Given the description of an element on the screen output the (x, y) to click on. 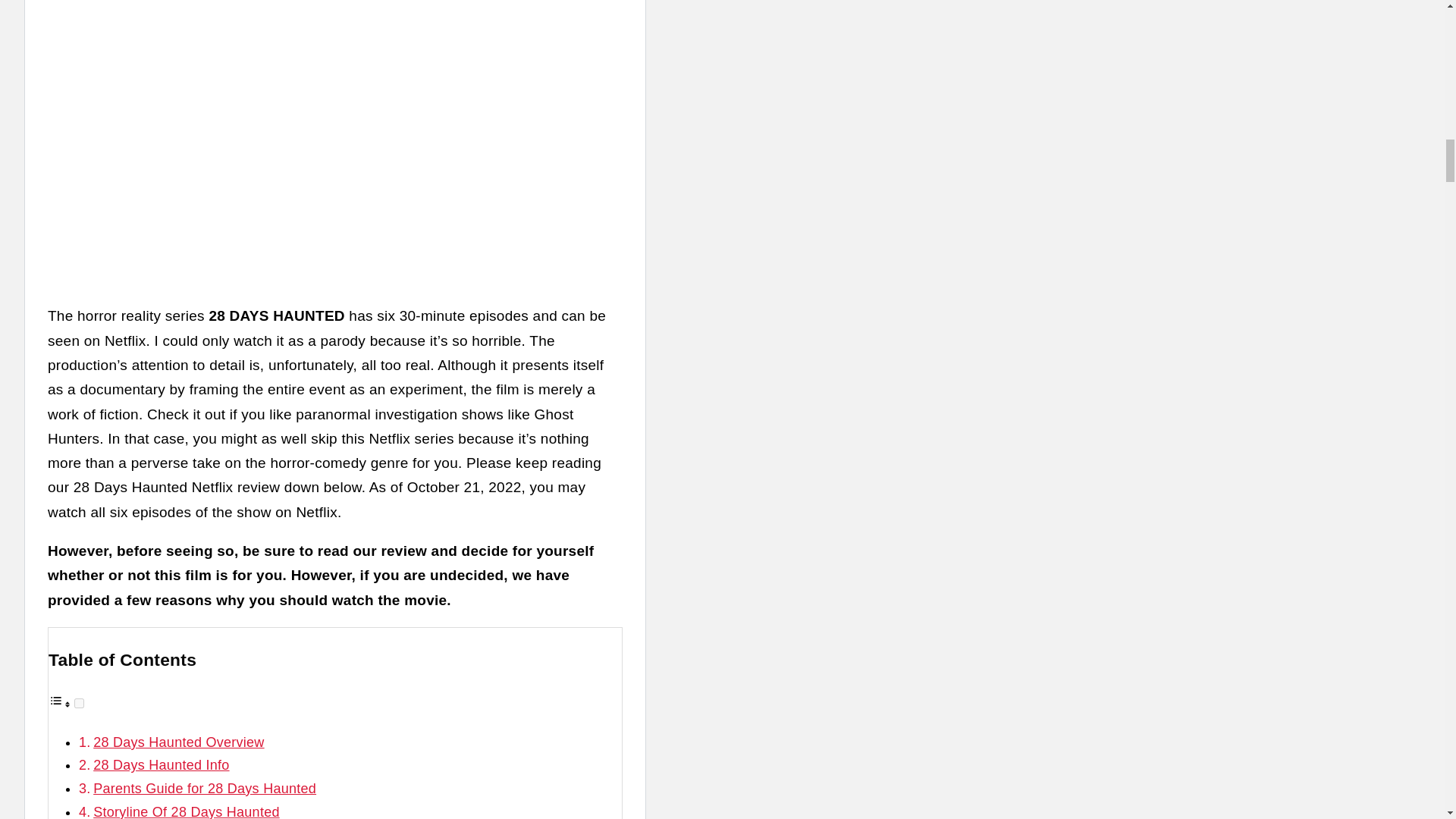
Storyline Of 28 Days Haunted (186, 811)
28 Days Haunted Info (160, 765)
Parents Guide for 28 Days Haunted (204, 788)
on (79, 703)
28 Days Haunted Overview (178, 742)
